Given the description of an element on the screen output the (x, y) to click on. 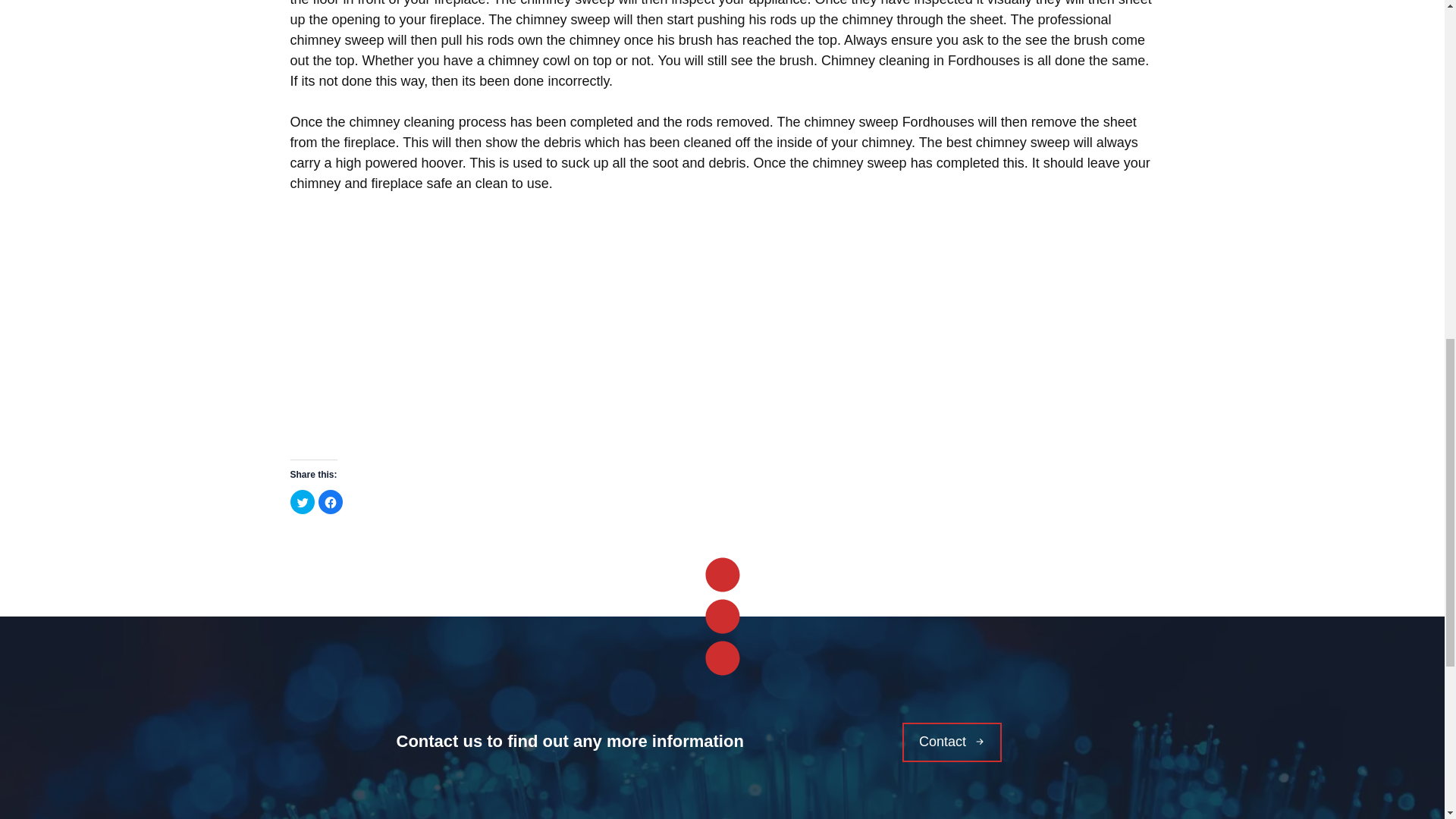
Chimney cleaning (877, 60)
Contact (951, 742)
chimney sweep (861, 162)
professional chimney sweep (699, 29)
Click to share on Twitter (301, 501)
Click to share on Facebook (330, 501)
